Given the description of an element on the screen output the (x, y) to click on. 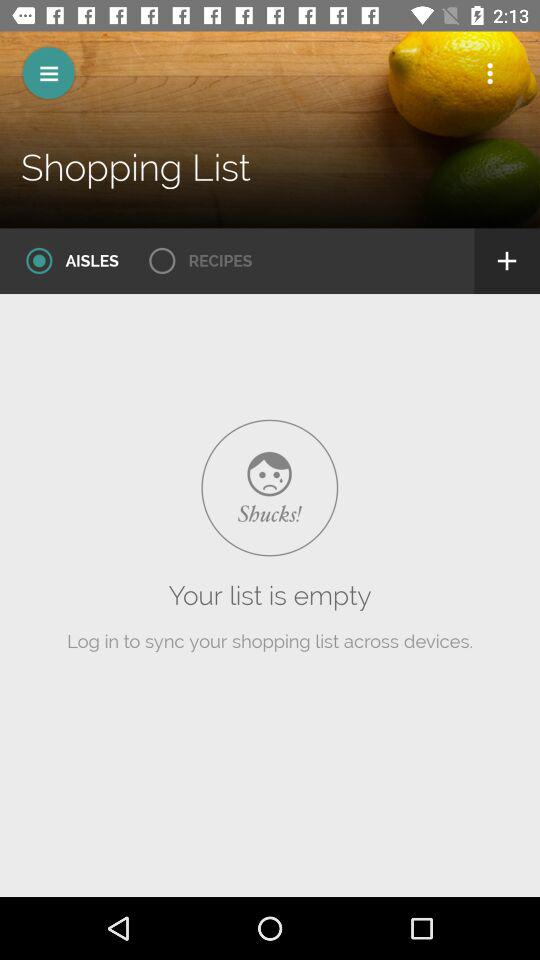
settings drop down menu toggle (490, 73)
